Given the description of an element on the screen output the (x, y) to click on. 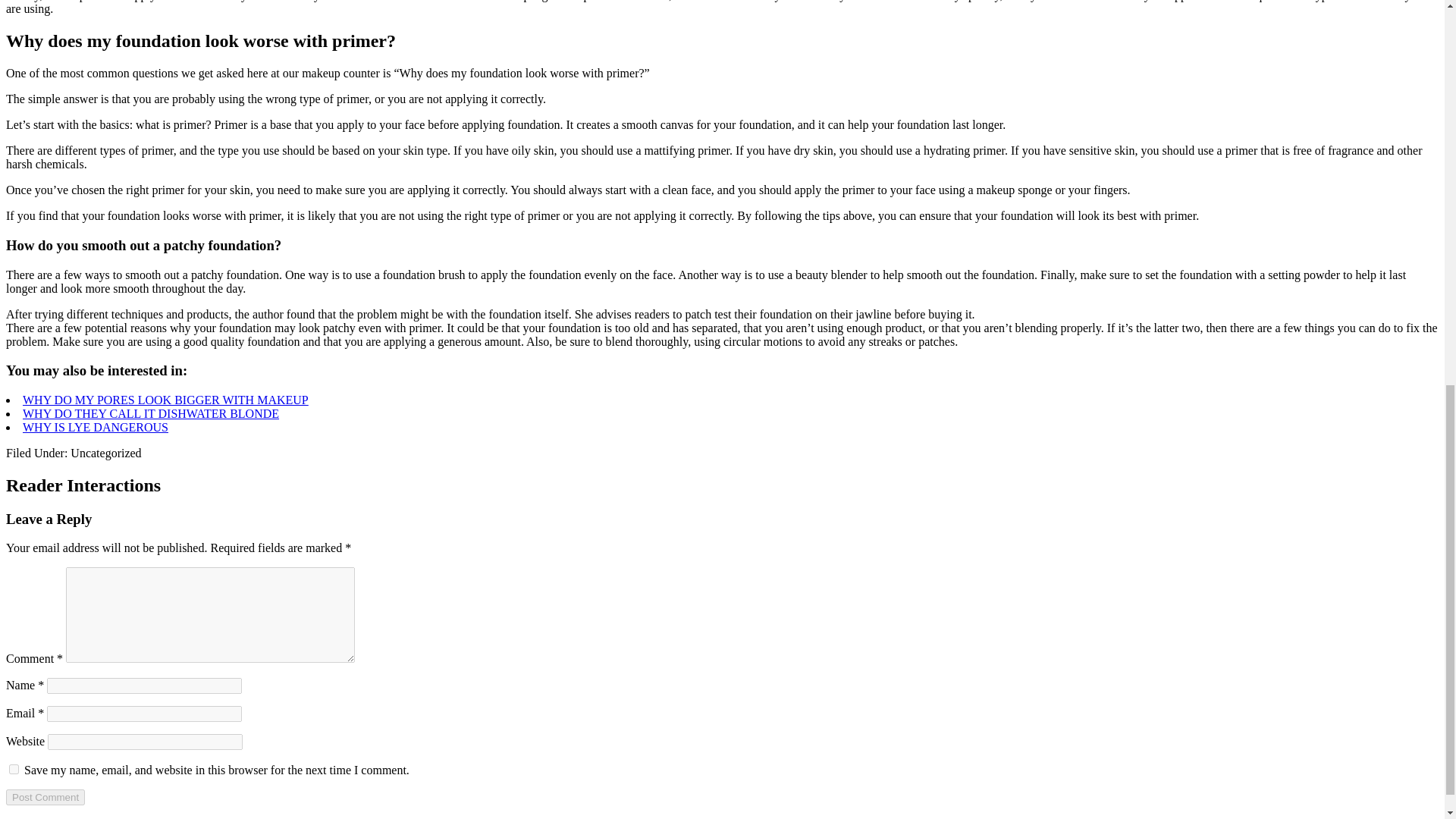
WHY DO MY PORES LOOK BIGGER WITH MAKEUP (165, 399)
yes (13, 768)
Post Comment (44, 797)
Post Comment (44, 797)
WHY IS LYE DANGEROUS (95, 427)
WHY DO THEY CALL IT DISHWATER BLONDE (151, 413)
